Given the description of an element on the screen output the (x, y) to click on. 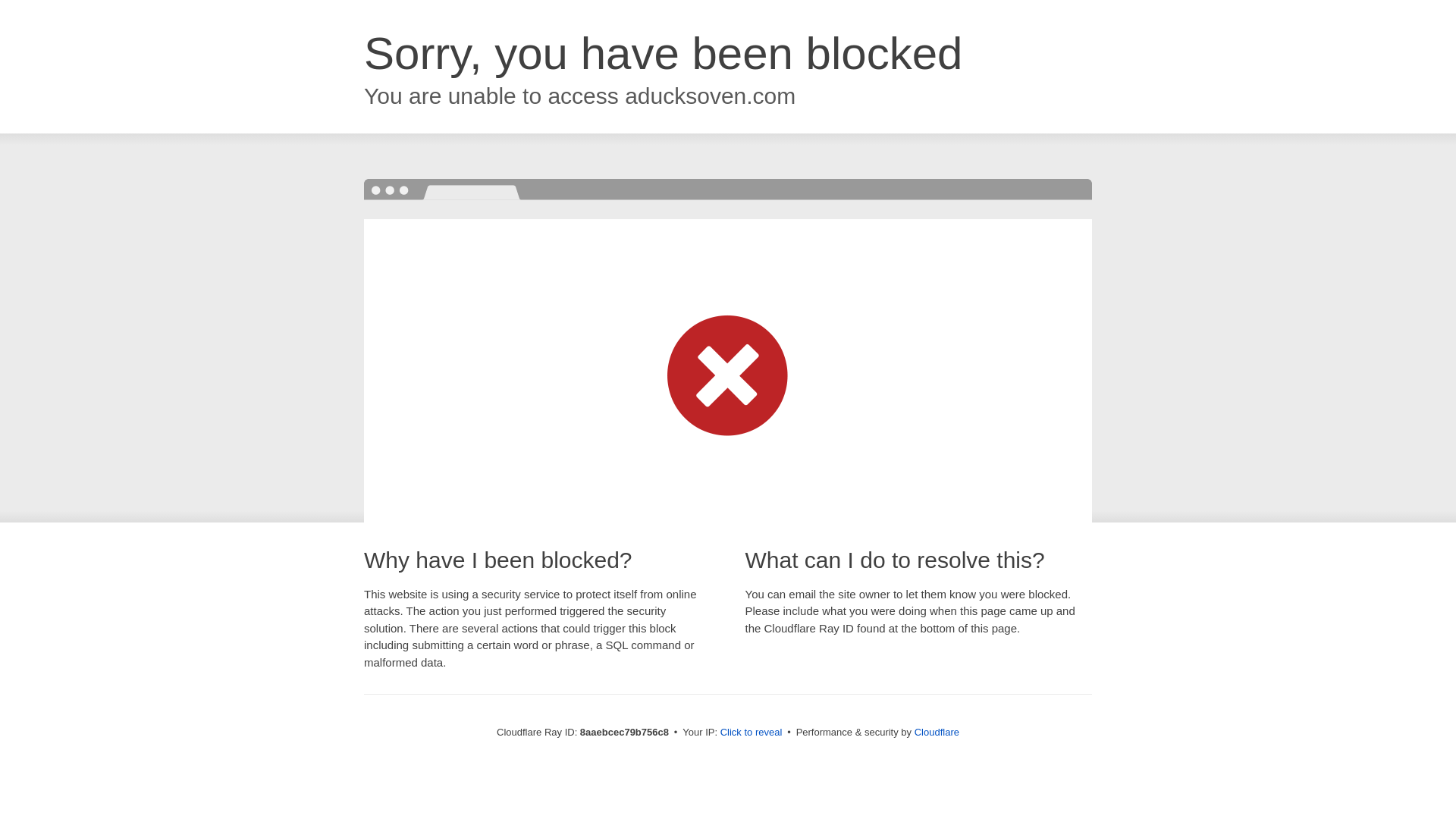
Cloudflare (936, 731)
Click to reveal (751, 732)
